Given the description of an element on the screen output the (x, y) to click on. 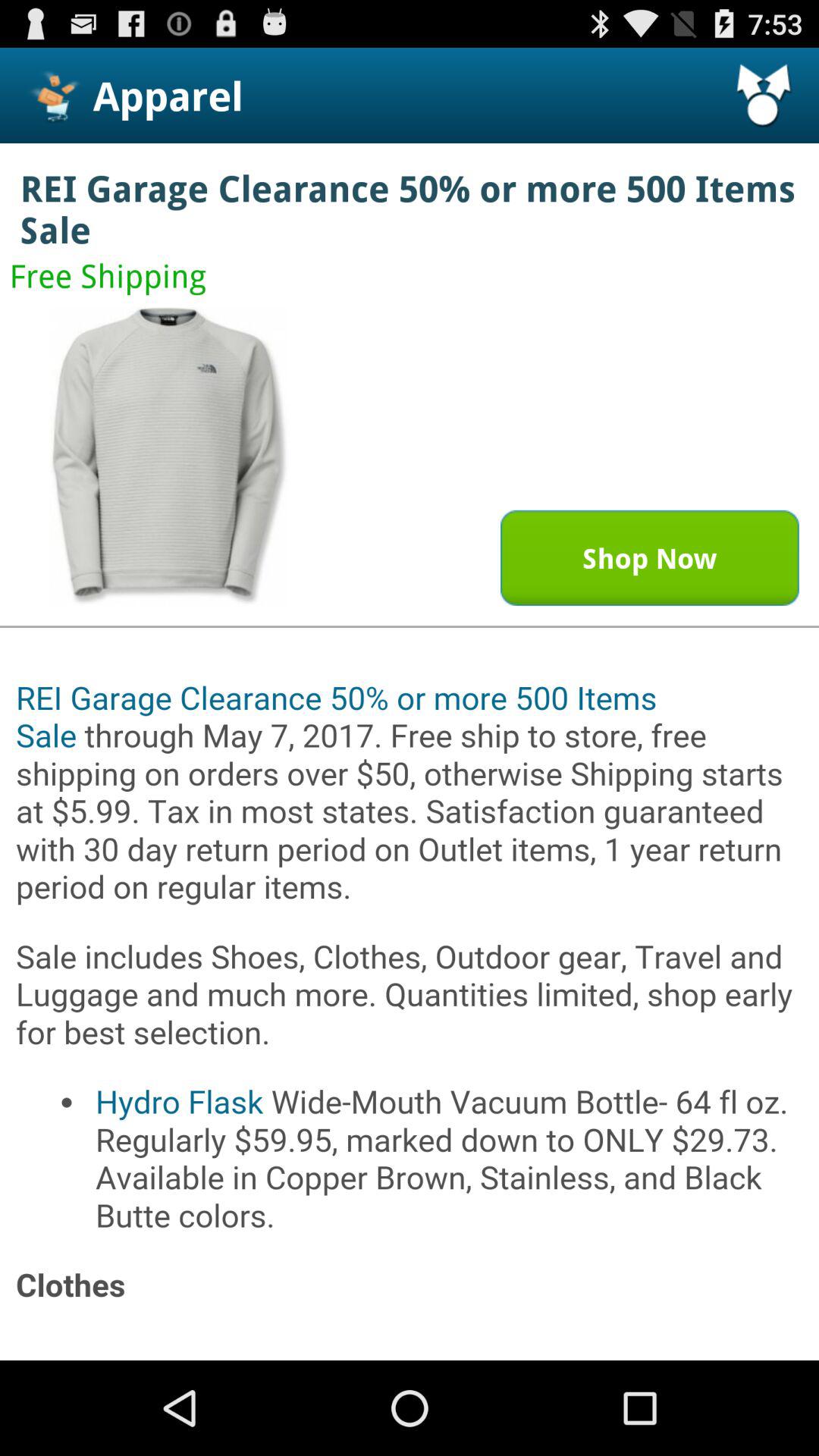
open image in a bigger window (168, 456)
